Given the description of an element on the screen output the (x, y) to click on. 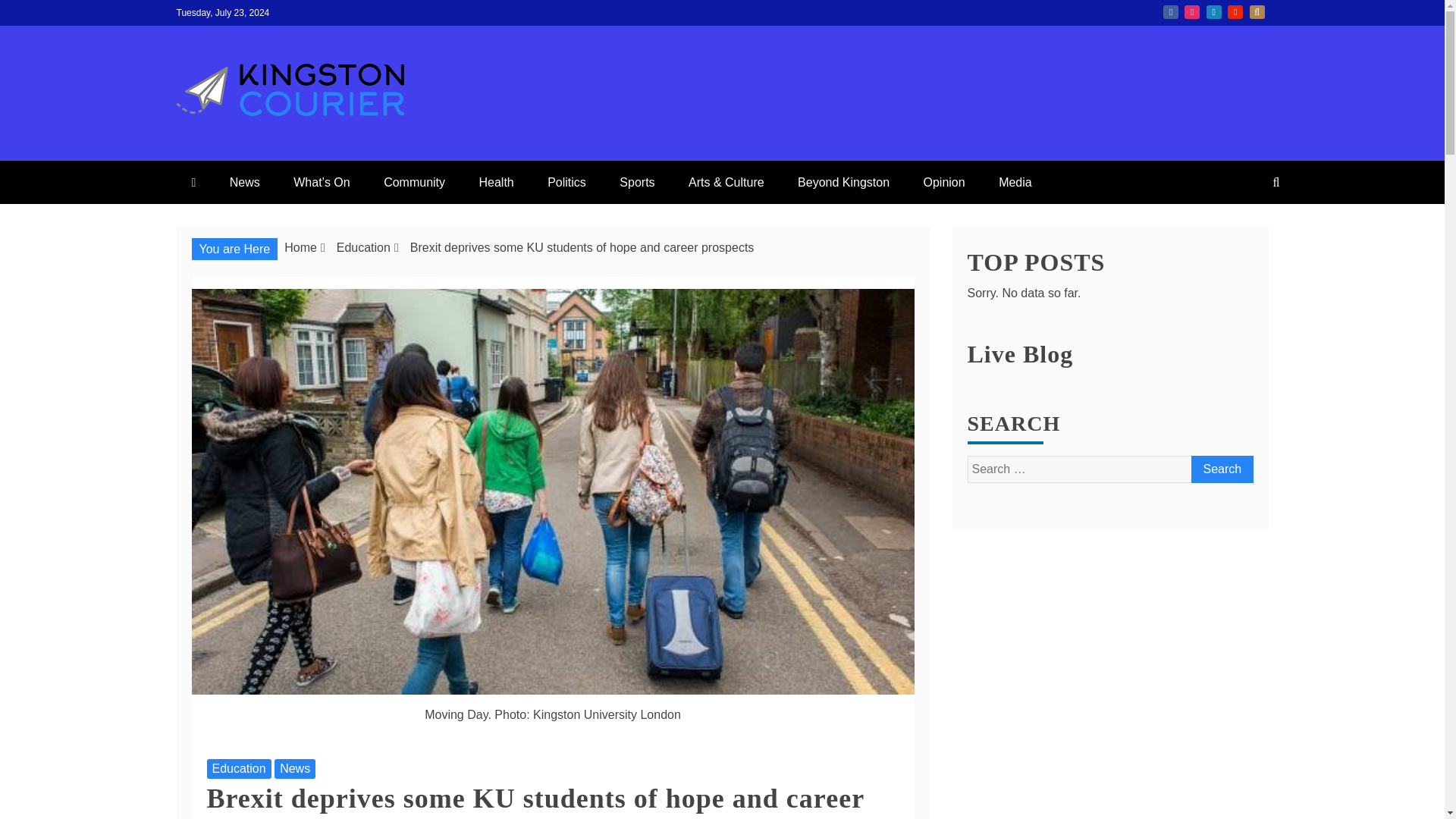
Education (238, 768)
Beyond Kingston (843, 181)
News (244, 181)
Opinion (943, 181)
KINGSTON COURIER (377, 145)
Media (1015, 181)
Search (1221, 469)
Sports (636, 181)
Kingston Courier (1170, 11)
Education (363, 246)
Politics (566, 181)
X Kingston Courier (1257, 11)
Courier Instagram (1192, 11)
Health (495, 181)
News (295, 768)
